Given the description of an element on the screen output the (x, y) to click on. 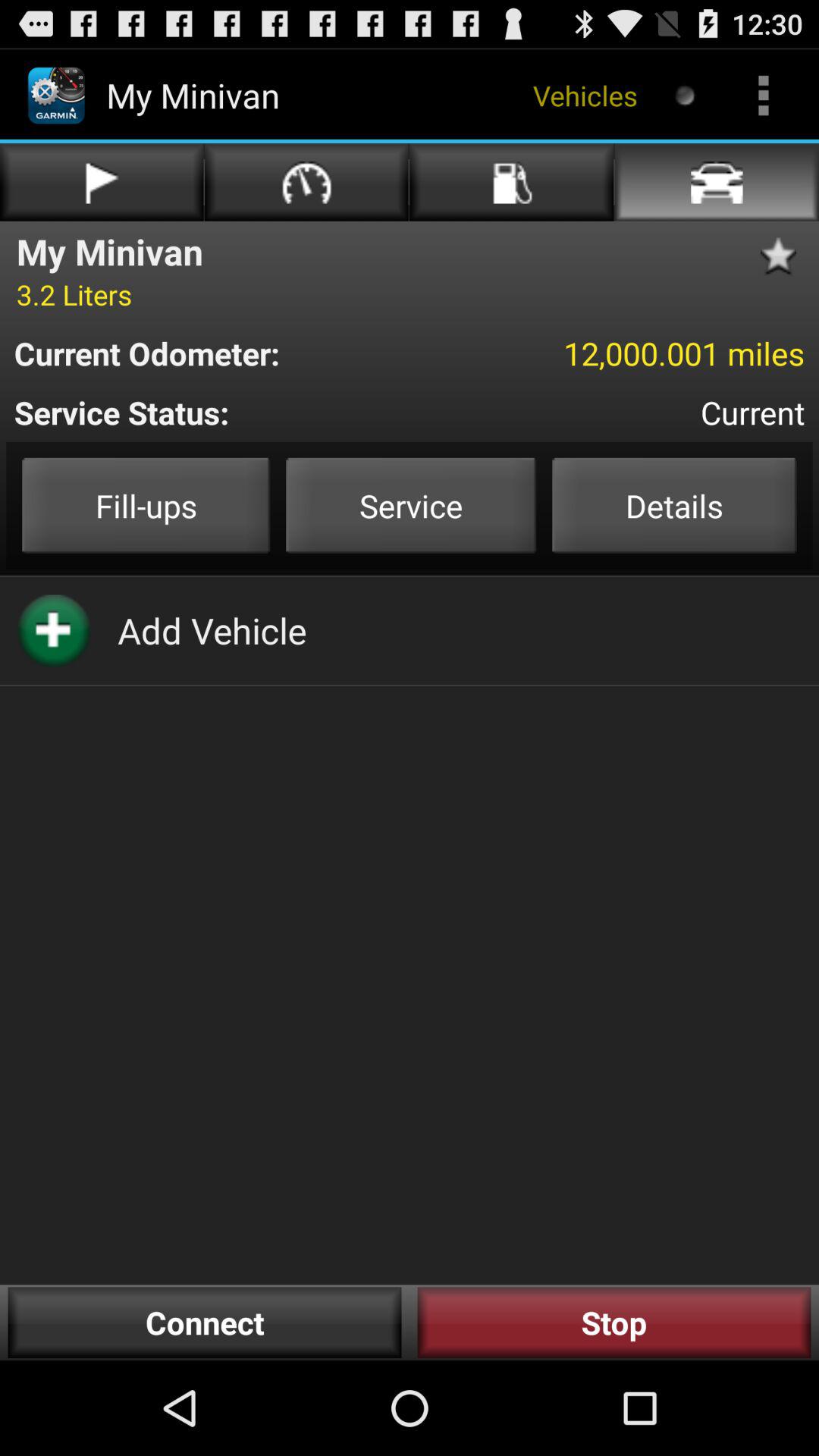
press the item below the 3.2 liters icon (217, 352)
